Given the description of an element on the screen output the (x, y) to click on. 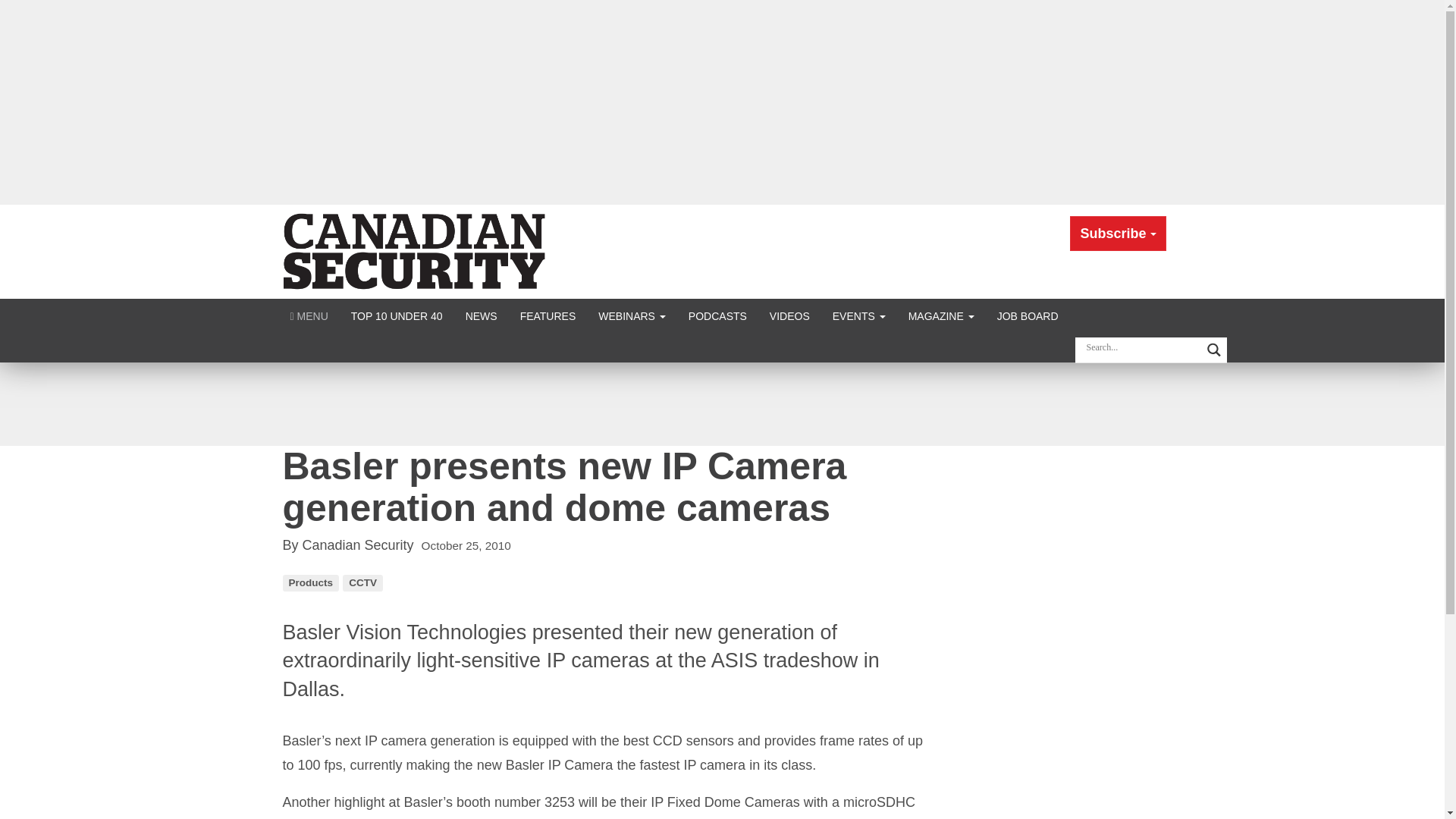
Subscribe (1118, 233)
MENU (309, 315)
PODCASTS (717, 315)
NEWS (481, 315)
TOP 10 UNDER 40 (396, 315)
WEBINARS (631, 315)
Canadian Security Magazine (415, 250)
JOB BOARD (1027, 315)
FEATURES (548, 315)
